Given the description of an element on the screen output the (x, y) to click on. 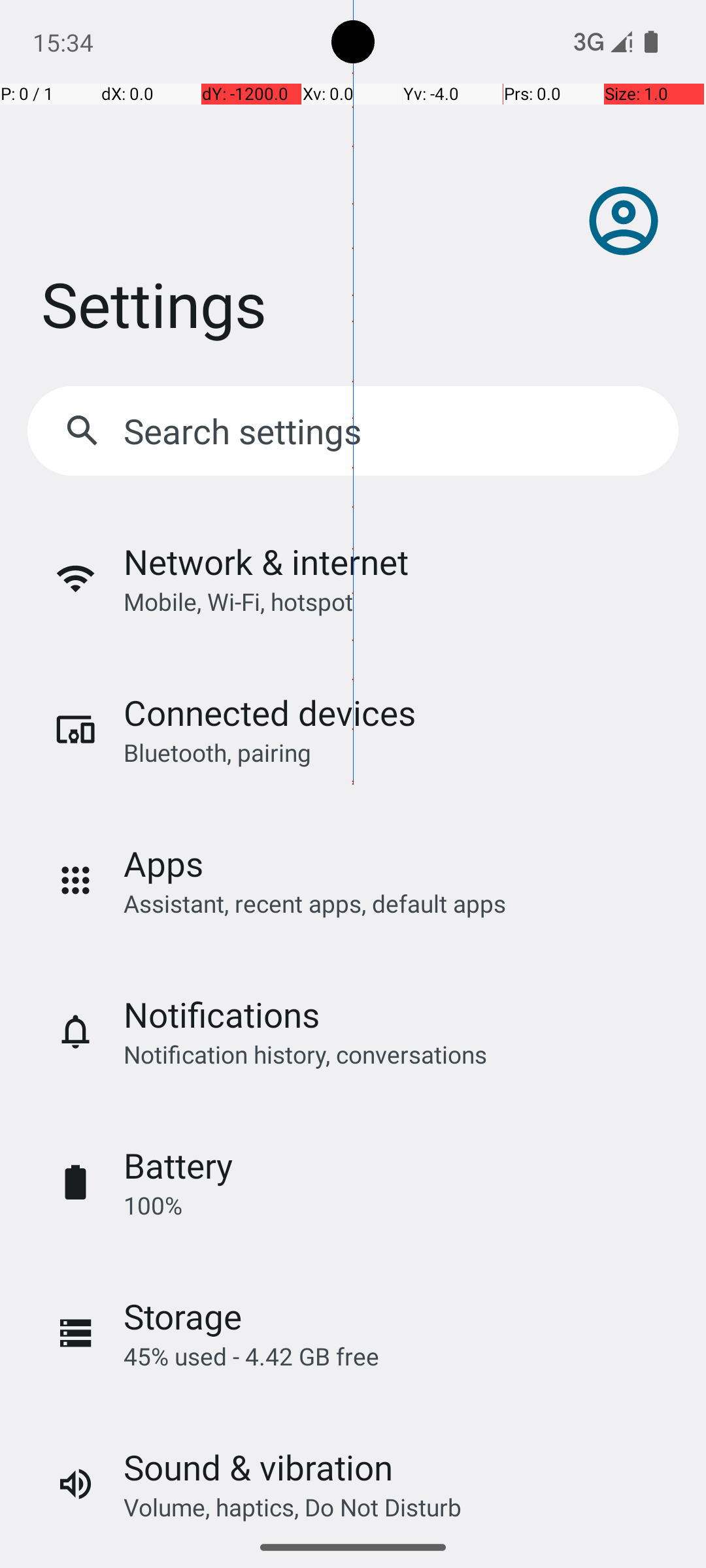
45% used - 4.42 GB free Element type: android.widget.TextView (251, 1355)
